Given the description of an element on the screen output the (x, y) to click on. 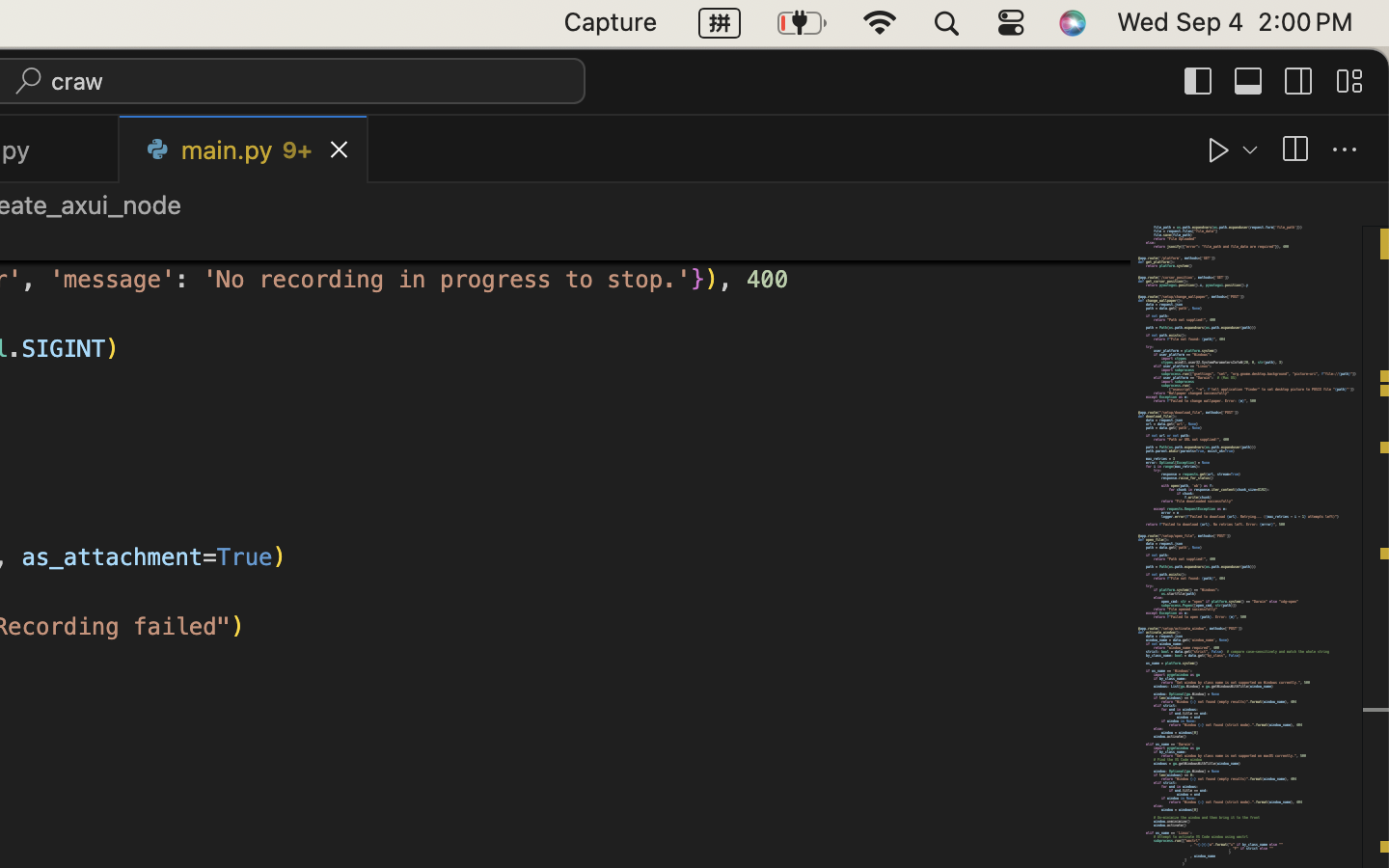
 Element type: AXButton (1294, 150)
 Element type: AXStaticText (1344, 150)
 Element type: AXCheckBox (1299, 80)
 Element type: AXCheckBox (1248, 80)
